Given the description of an element on the screen output the (x, y) to click on. 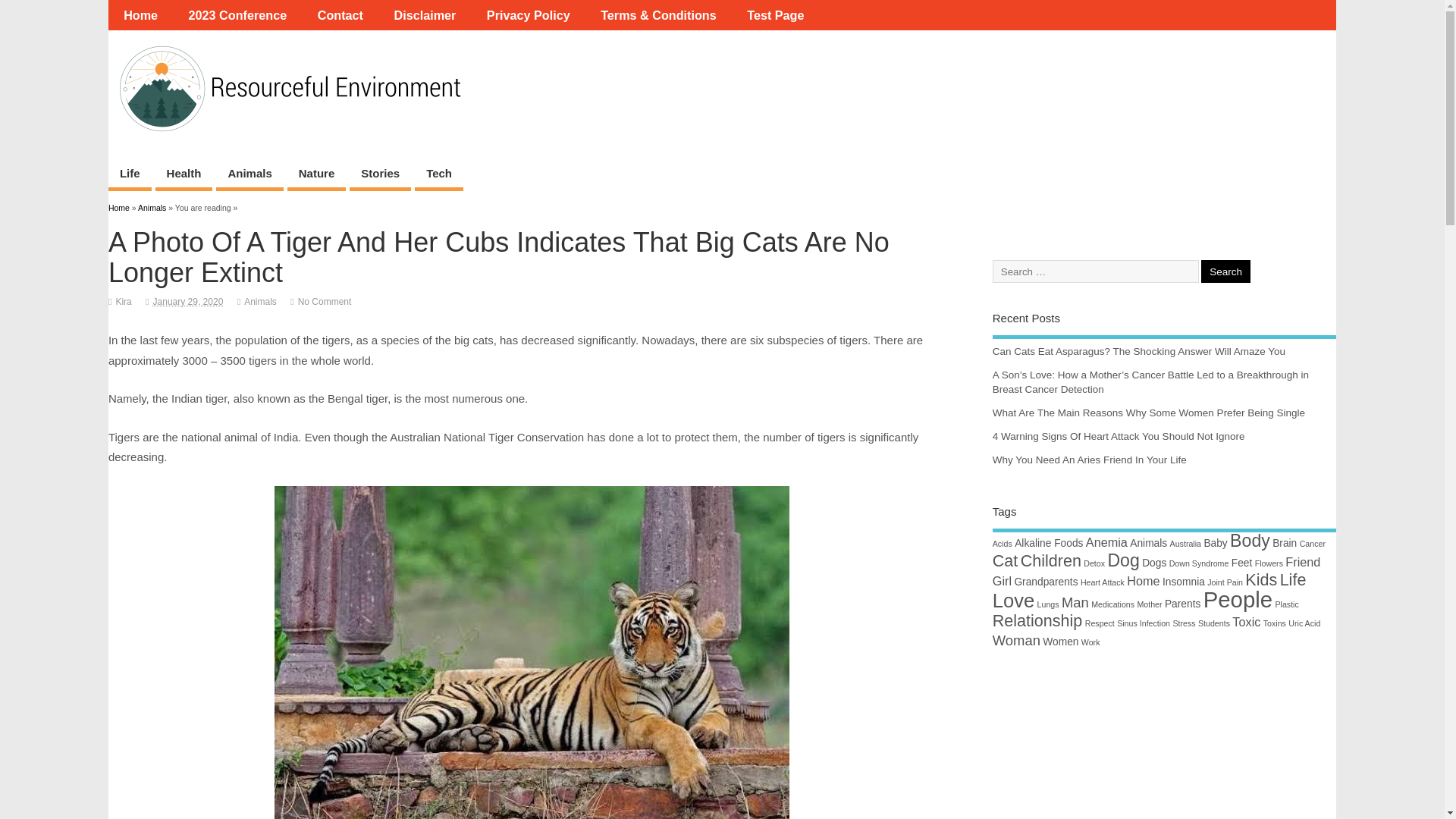
Kira (123, 301)
Home (118, 207)
Test Page (775, 15)
Why You Need An Aries Friend In Your Life (1089, 460)
Animals (248, 174)
Acids (1001, 542)
Contact (339, 15)
Posts by Kira (123, 301)
2023 Conference (237, 15)
Stories (379, 174)
